Given the description of an element on the screen output the (x, y) to click on. 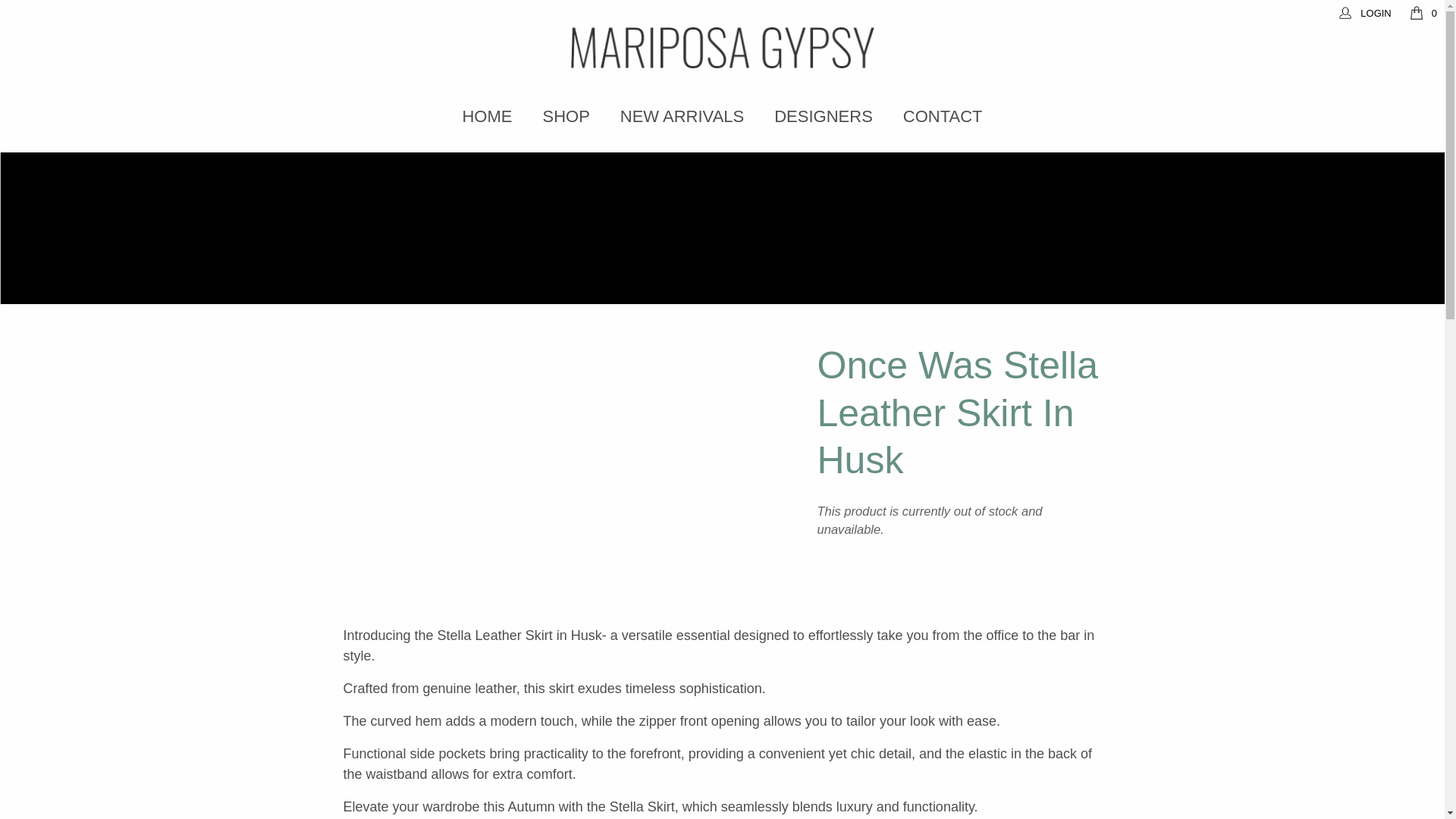
SHOP (565, 116)
HOME (486, 116)
LOGIN (1364, 12)
